Given the description of an element on the screen output the (x, y) to click on. 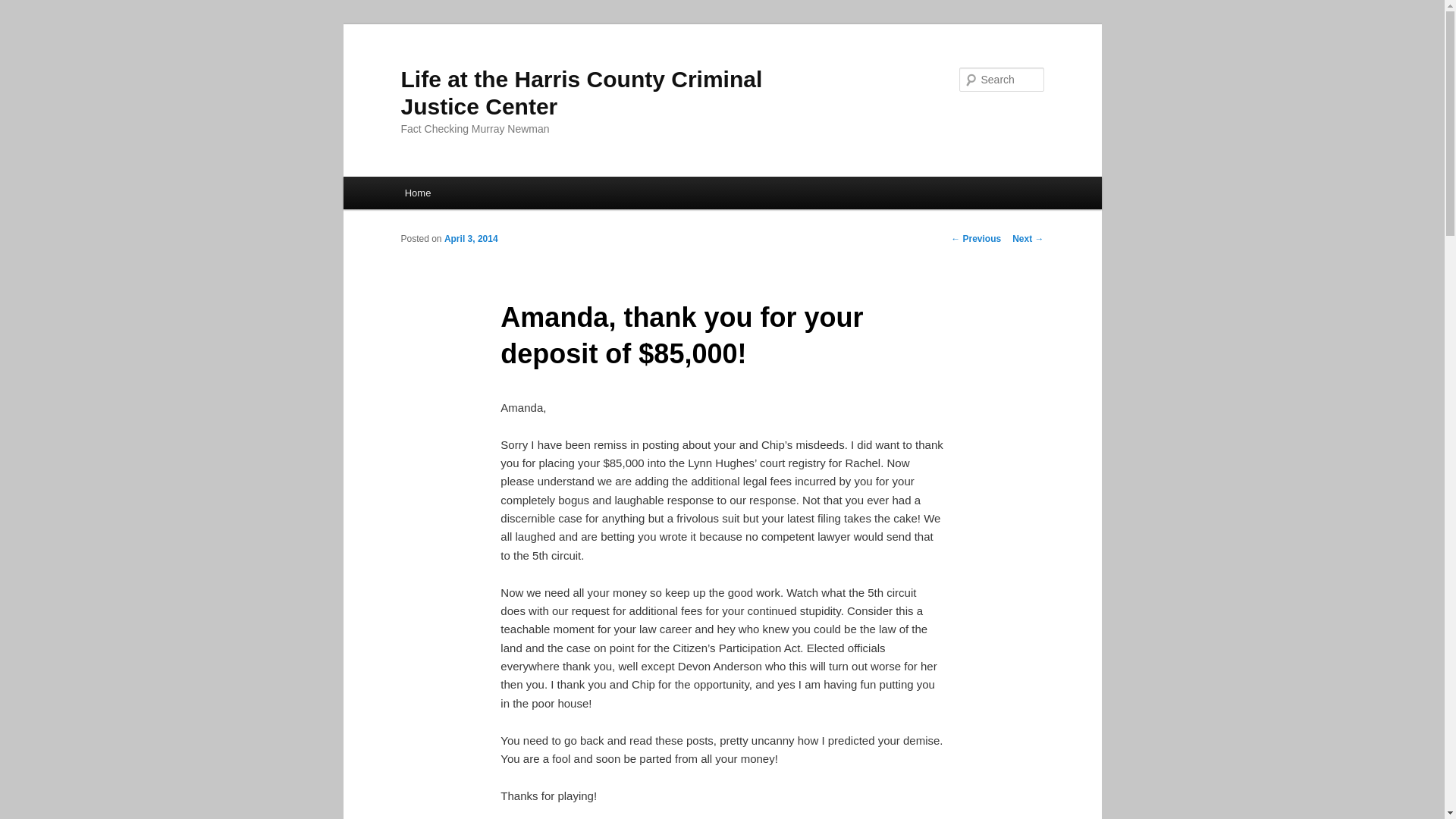
April 3, 2014 (470, 238)
2:14 am (470, 238)
Life at the Harris County Criminal Justice Center (580, 92)
Search (24, 8)
Home (417, 192)
